Given the description of an element on the screen output the (x, y) to click on. 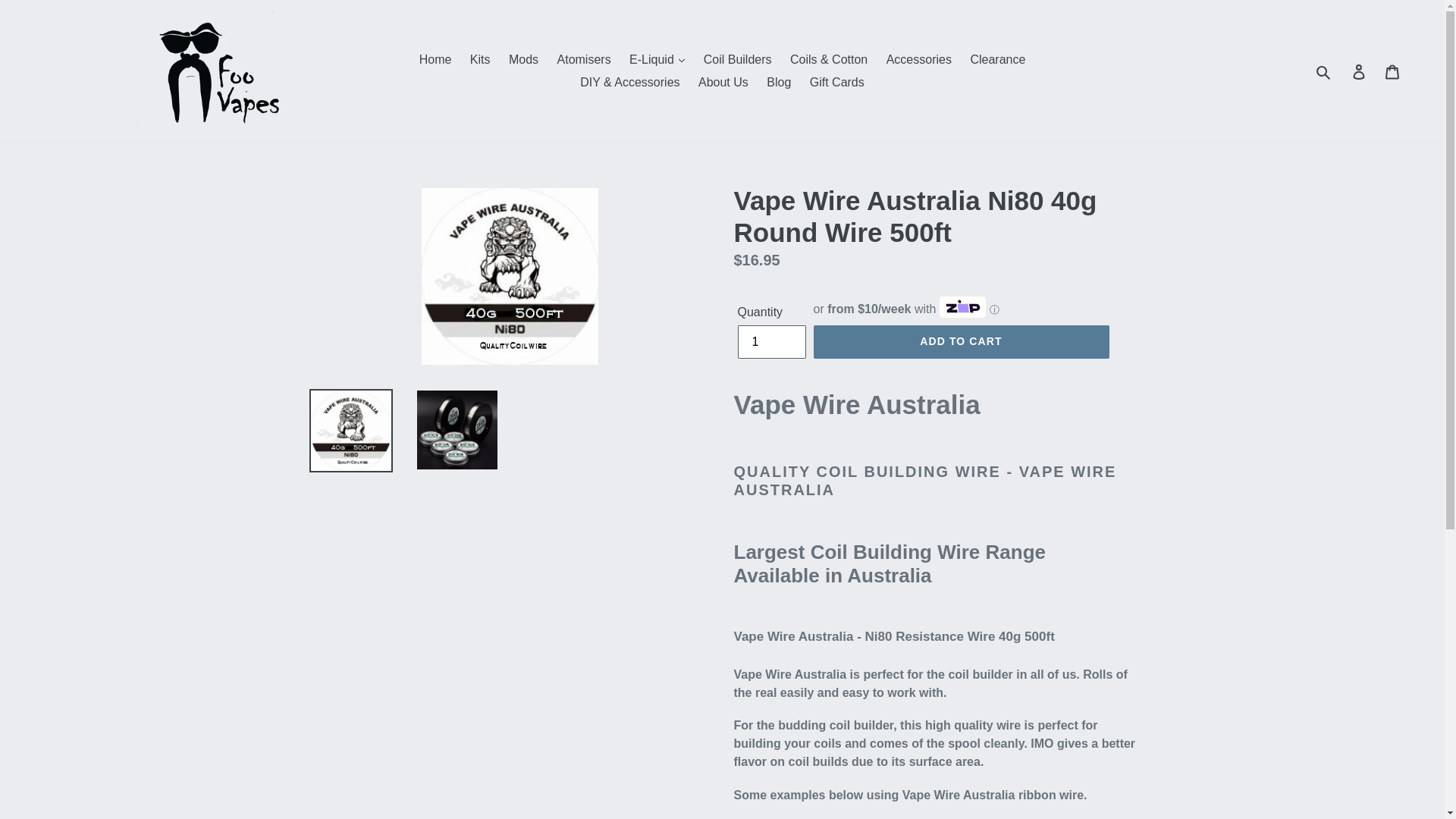
About Us (722, 82)
1 (770, 341)
Coil Builders (736, 59)
Clearance (997, 59)
Home (436, 59)
Atomisers (584, 59)
Blog (777, 82)
Submit (1324, 70)
Cart (1392, 71)
Log in (1359, 71)
Mods (523, 59)
Kits (480, 59)
Gift Cards (837, 82)
Accessories (919, 59)
